Given the description of an element on the screen output the (x, y) to click on. 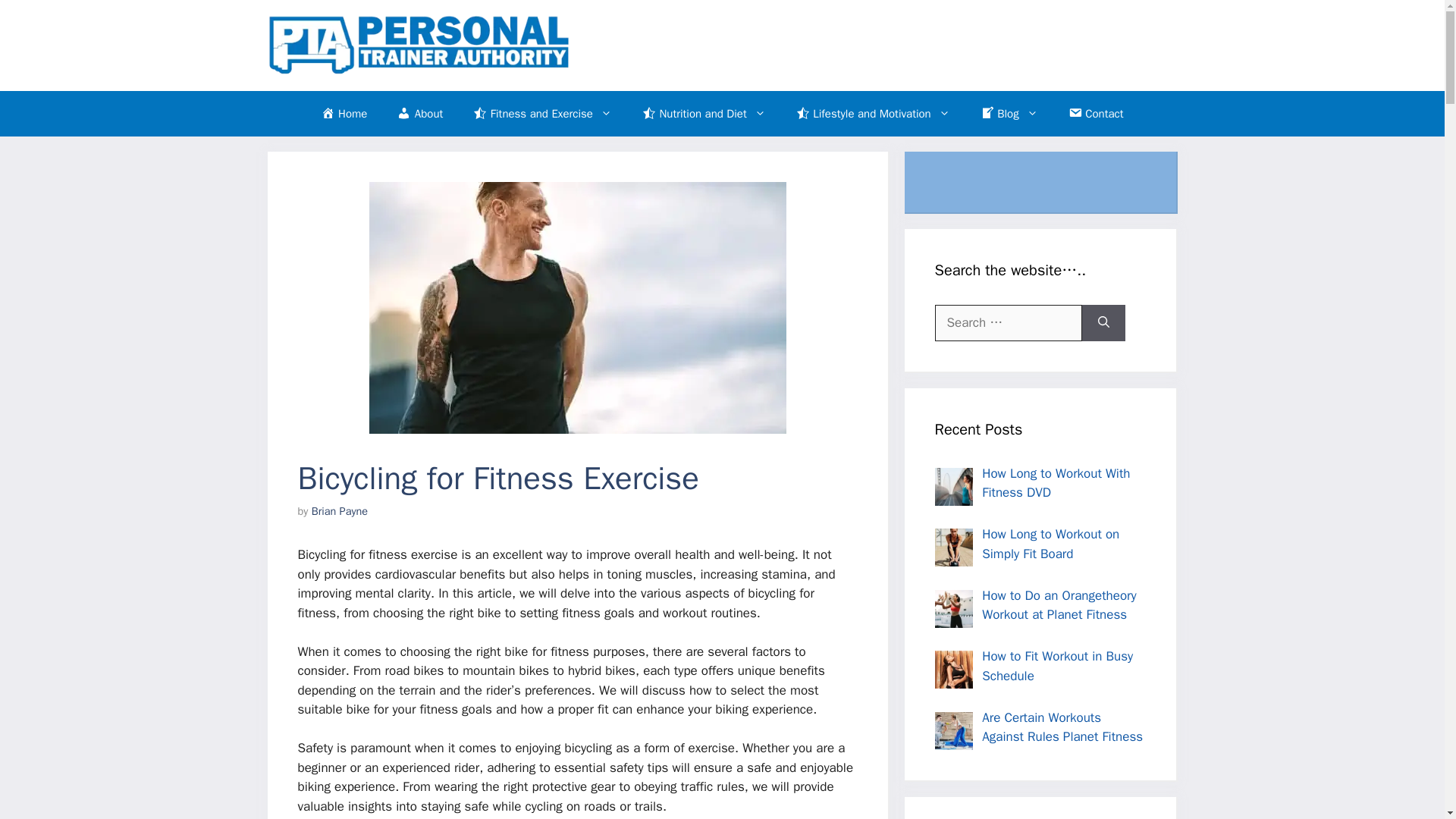
Bicycling for Fitness Exercise 1 (577, 307)
View all posts by Brian Payne (339, 510)
